Given the description of an element on the screen output the (x, y) to click on. 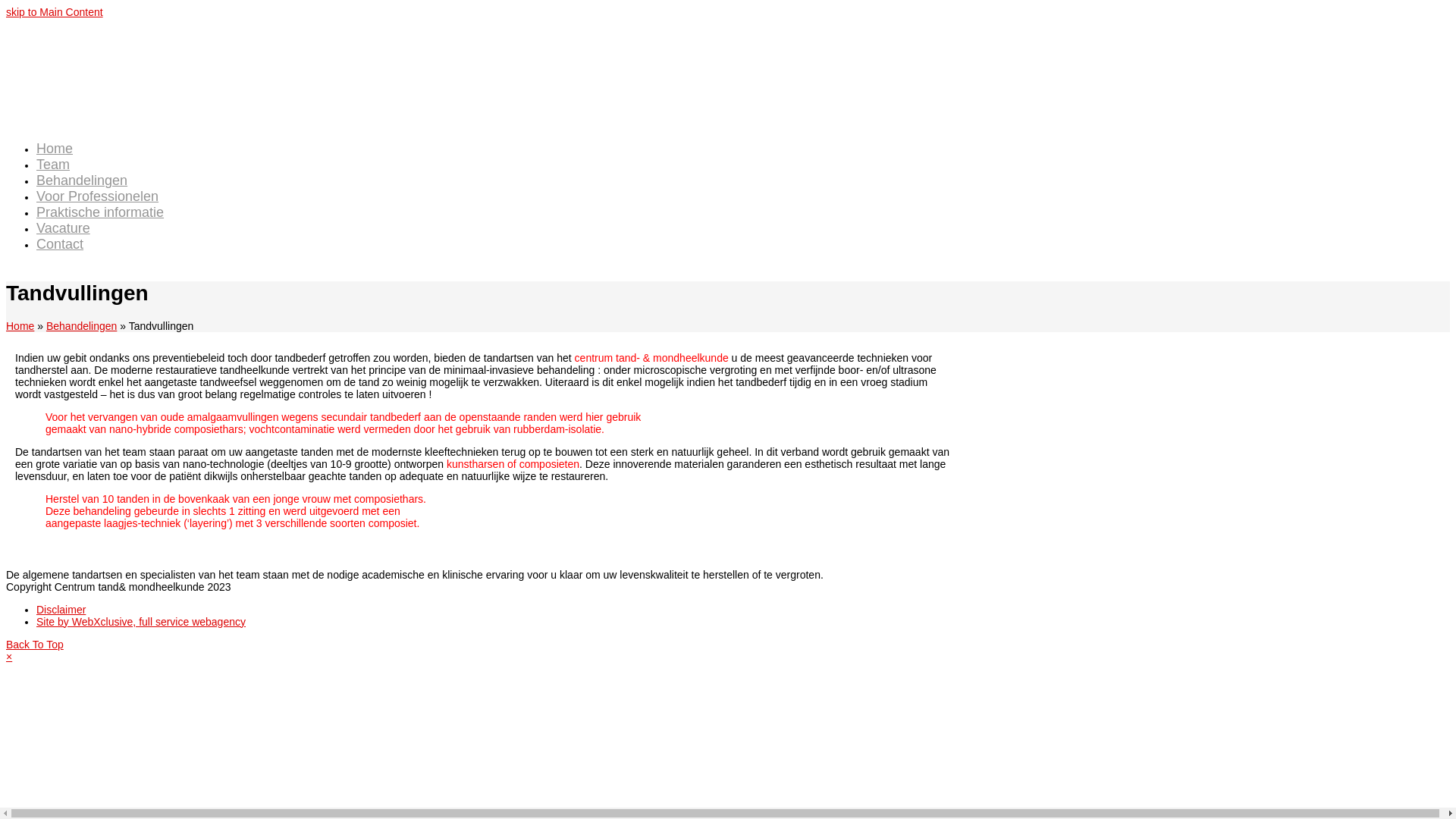
Home Element type: text (20, 326)
Voor Professionelen Element type: text (97, 197)
Vacature Element type: text (63, 228)
Site by WebXclusive, full service webagency Element type: text (140, 621)
Back To Top Element type: text (34, 644)
Home Element type: text (54, 149)
skip to Main Content Element type: text (54, 12)
Behandelingen Element type: text (81, 326)
Behandelingen Element type: text (81, 181)
Team Element type: text (52, 165)
Disclaimer Element type: text (60, 609)
Praktische informatie Element type: text (99, 213)
Contact Element type: text (59, 244)
